Given the description of an element on the screen output the (x, y) to click on. 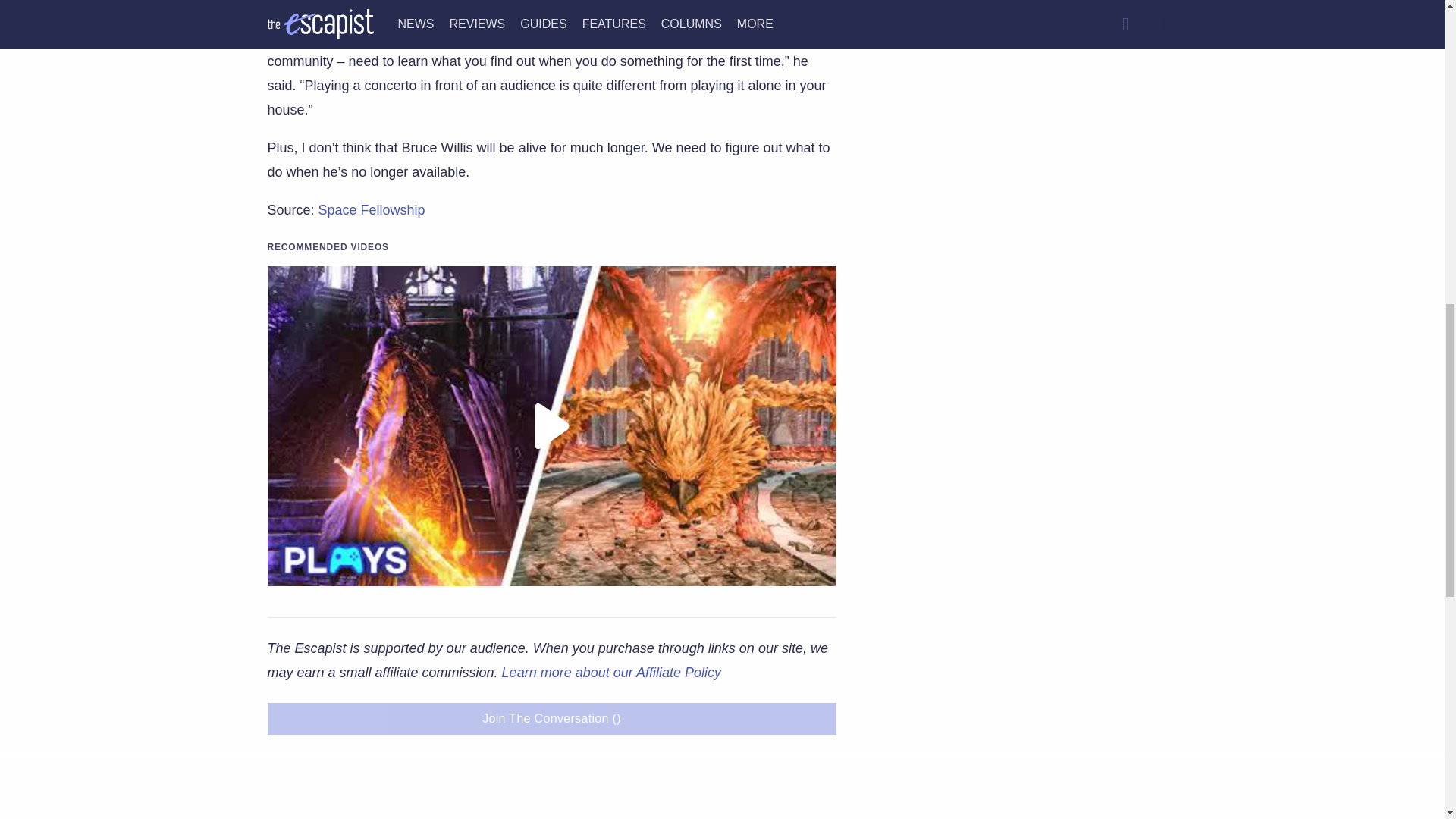
3rd party ad content (1024, 162)
3rd party ad content (1024, 493)
